Given the description of an element on the screen output the (x, y) to click on. 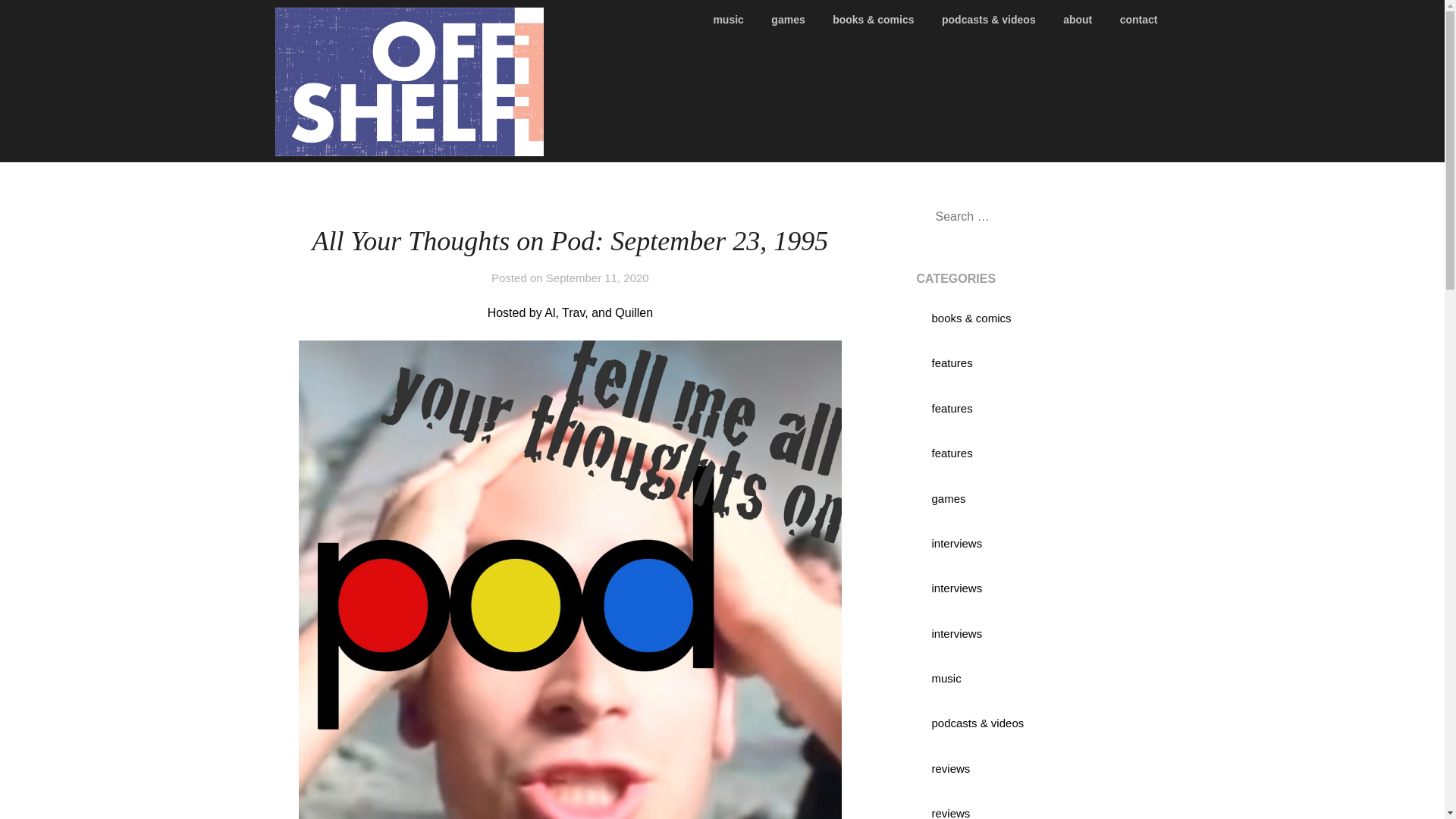
features (951, 408)
about (1077, 20)
music (945, 677)
games (948, 498)
games (787, 20)
September 11, 2020 (597, 277)
interviews (956, 587)
reviews (950, 812)
Search (38, 22)
interviews (956, 543)
music (734, 20)
contact (1139, 20)
features (951, 362)
reviews (950, 768)
features (951, 452)
